Given the description of an element on the screen output the (x, y) to click on. 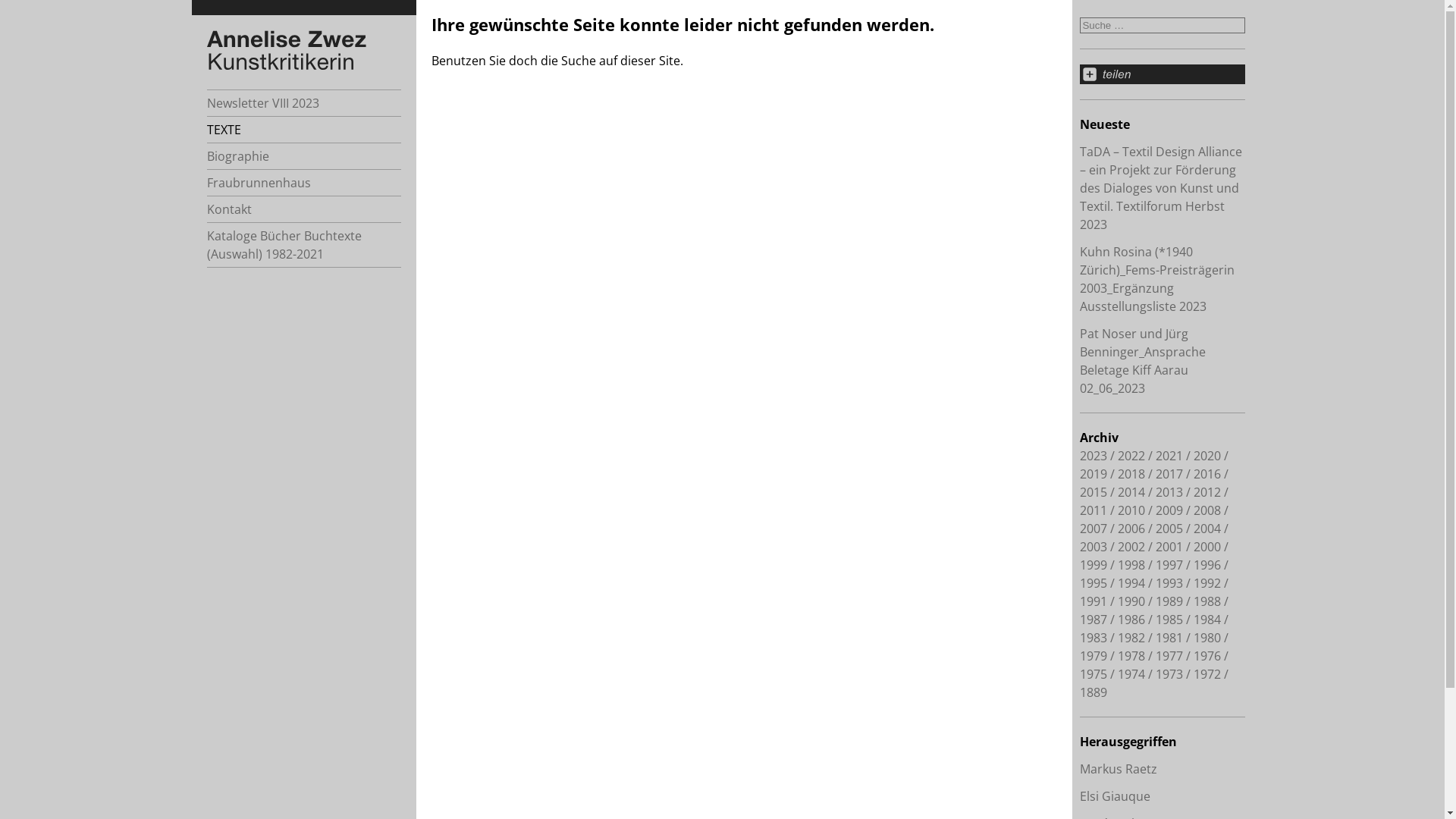
2021 Element type: text (1169, 455)
1972 Element type: text (1206, 673)
1976 Element type: text (1206, 655)
1998 Element type: text (1131, 564)
Fraubrunnenhaus Element type: text (303, 182)
1991 Element type: text (1093, 601)
Elsi Giauque Element type: text (1114, 795)
1993 Element type: text (1169, 582)
1999 Element type: text (1093, 564)
2011 Element type: text (1093, 510)
2017 Element type: text (1169, 473)
1977 Element type: text (1169, 655)
Newsletter VIII 2023 Element type: text (303, 103)
2013 Element type: text (1169, 491)
2015 Element type: text (1093, 491)
2022 Element type: text (1131, 455)
2023 Element type: text (1093, 455)
1989 Element type: text (1169, 601)
2012 Element type: text (1206, 491)
2007 Element type: text (1093, 528)
2019 Element type: text (1093, 473)
Markus Raetz Element type: text (1118, 768)
1990 Element type: text (1131, 601)
1980 Element type: text (1206, 637)
2009 Element type: text (1169, 510)
1973 Element type: text (1169, 673)
2020 Element type: text (1206, 455)
1984 Element type: text (1206, 619)
1978 Element type: text (1131, 655)
1985 Element type: text (1169, 619)
1997 Element type: text (1169, 564)
2008 Element type: text (1206, 510)
2005 Element type: text (1169, 528)
2000 Element type: text (1206, 546)
1889 Element type: text (1093, 692)
1987 Element type: text (1093, 619)
2006 Element type: text (1131, 528)
1996 Element type: text (1206, 564)
2018 Element type: text (1131, 473)
Biographie Element type: text (303, 156)
Suche Element type: text (722, 7)
1992 Element type: text (1206, 582)
2016 Element type: text (1206, 473)
2004 Element type: text (1206, 528)
1988 Element type: text (1206, 601)
TEXTE Element type: text (303, 129)
2003 Element type: text (1093, 546)
1994 Element type: text (1131, 582)
1981 Element type: text (1169, 637)
2014 Element type: text (1131, 491)
1974 Element type: text (1131, 673)
1983 Element type: text (1093, 637)
1979 Element type: text (1093, 655)
2001 Element type: text (1169, 546)
1986 Element type: text (1131, 619)
2002 Element type: text (1131, 546)
Kontakt Element type: text (303, 209)
1995 Element type: text (1093, 582)
2010 Element type: text (1131, 510)
1982 Element type: text (1131, 637)
1975 Element type: text (1093, 673)
